Given the description of an element on the screen output the (x, y) to click on. 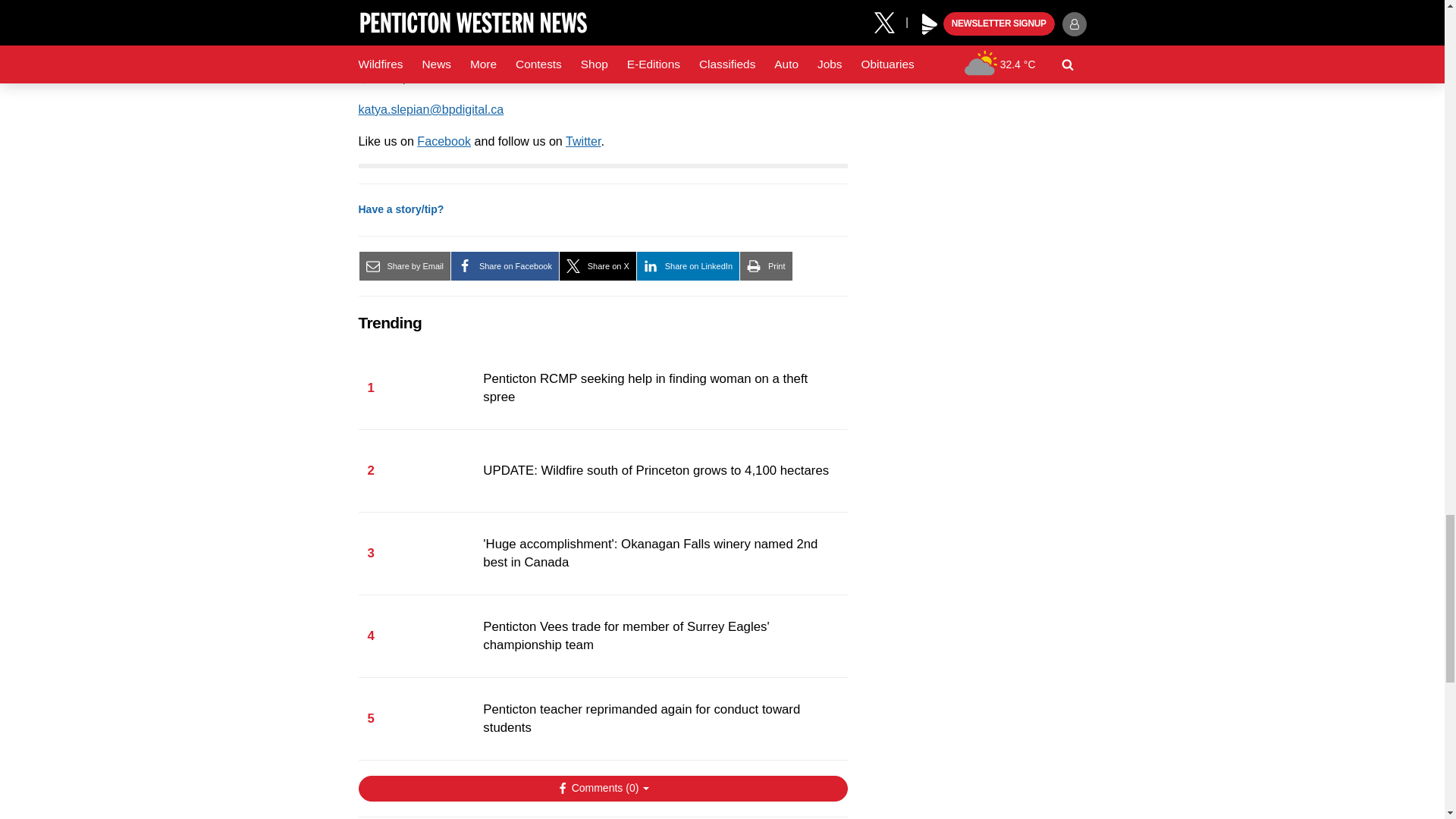
Show Comments (602, 788)
